Given the description of an element on the screen output the (x, y) to click on. 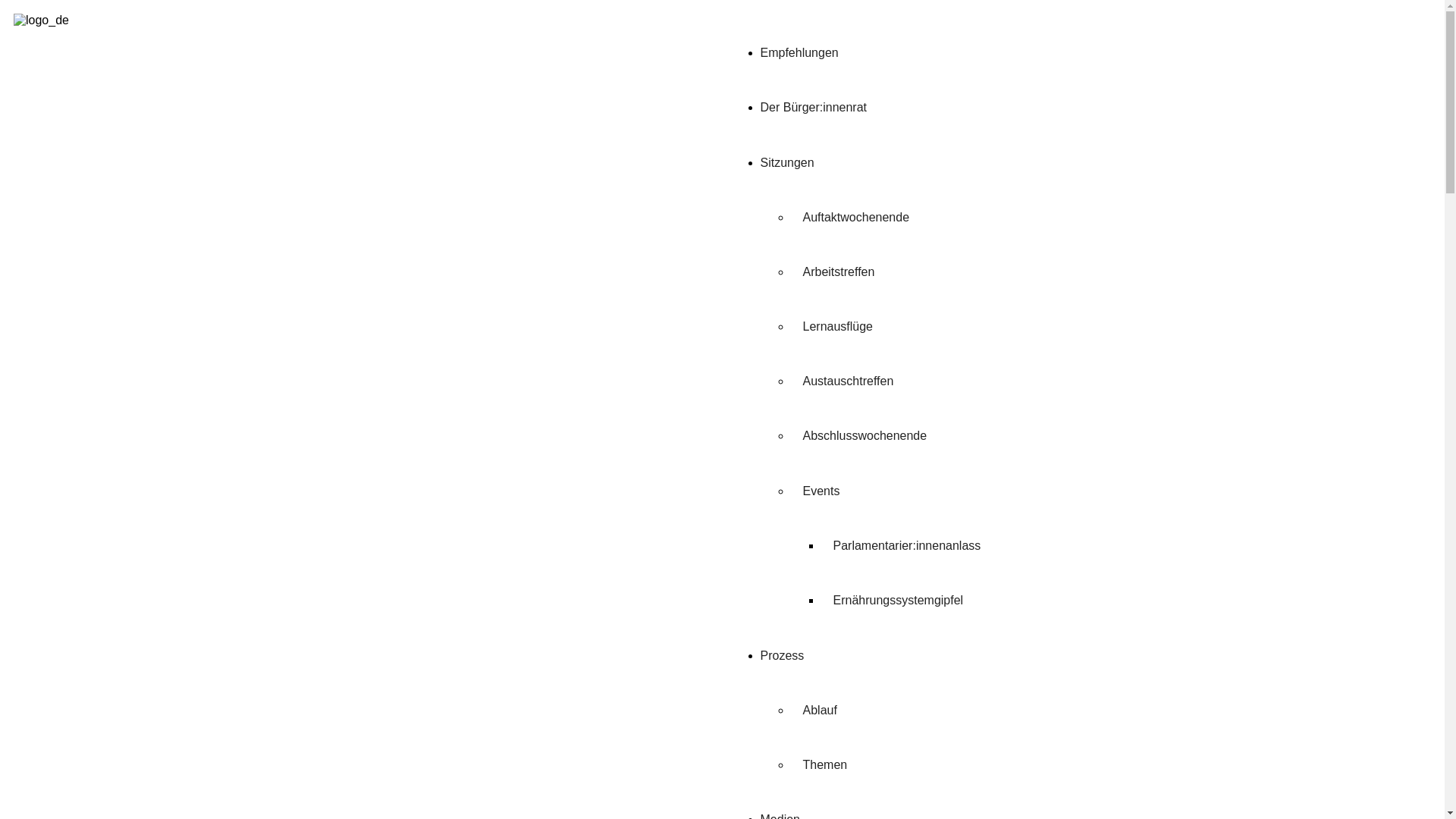
Parlamentarier:innenanlass Element type: text (906, 545)
Empfehlungen Element type: text (798, 52)
Sitzungen Element type: text (786, 162)
Ablauf Element type: text (819, 710)
Abschlusswochenende Element type: text (864, 435)
Themen Element type: text (824, 764)
Arbeitstreffen Element type: text (838, 271)
Auftaktwochenende Element type: text (855, 217)
Austauschtreffen Element type: text (847, 381)
Events Element type: text (820, 490)
Prozess Element type: text (781, 655)
